Given the description of an element on the screen output the (x, y) to click on. 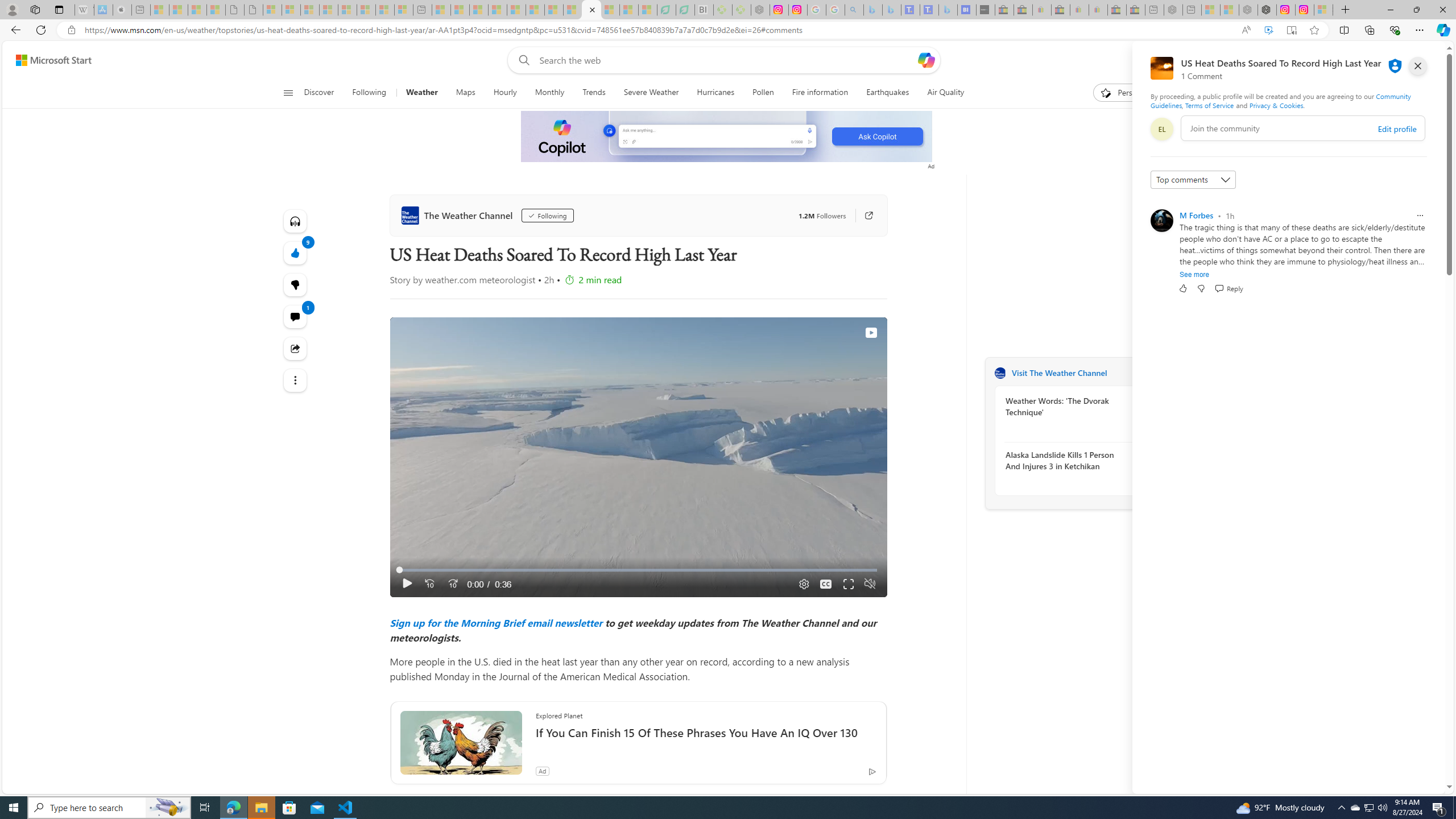
Payments Terms of Use | eBay.com - Sleeping (1098, 9)
Yard, Garden & Outdoor Living - Sleeping (1135, 9)
Reply Reply Comment (1228, 287)
The importance of being lazy - Sleeping (1229, 9)
Fullscreen (848, 583)
Open navigation menu (287, 92)
